Given the description of an element on the screen output the (x, y) to click on. 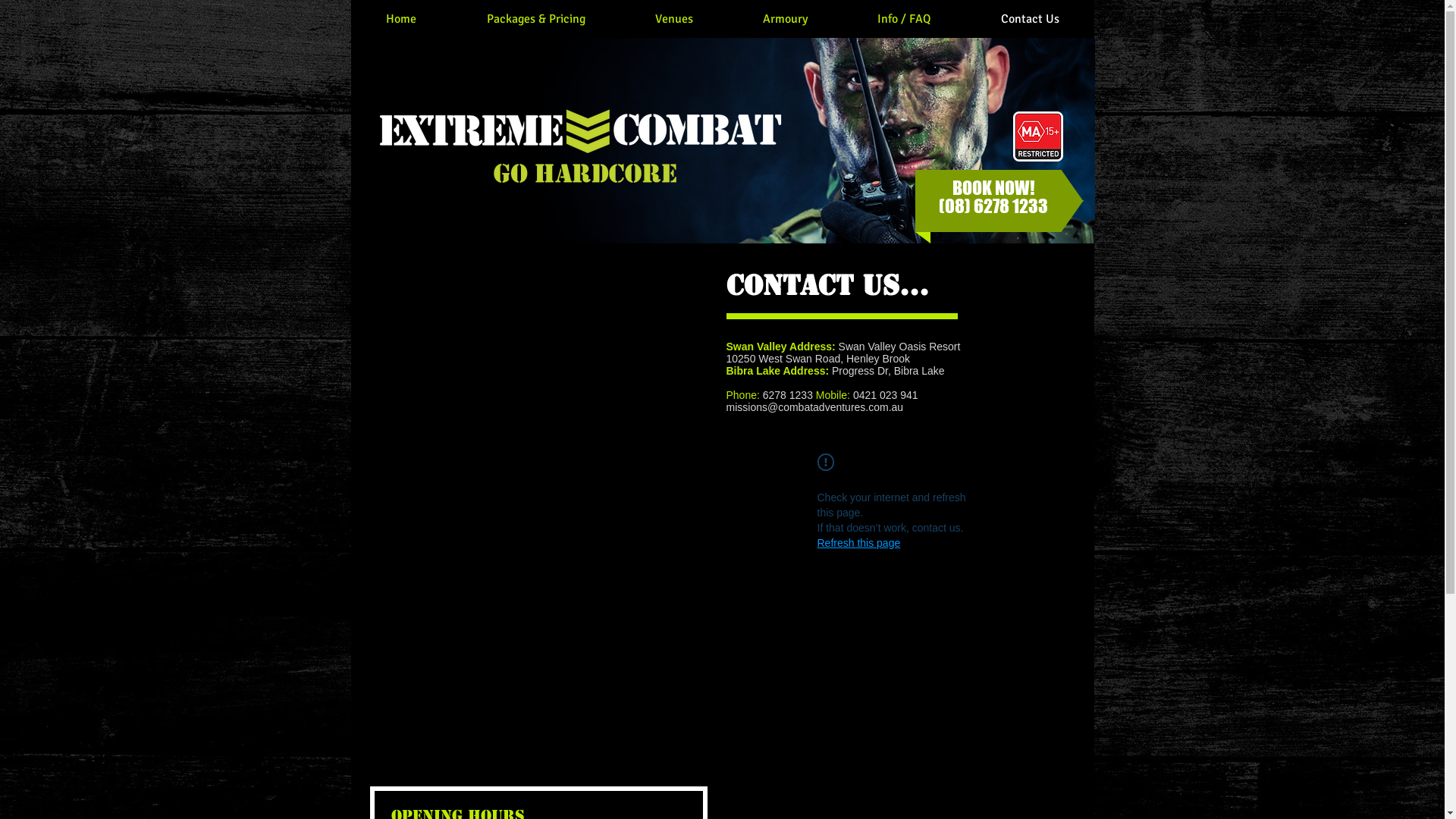
Google Maps Element type: hover (537, 385)
Contact Us Element type: text (1030, 18)
Refresh this page Element type: text (858, 542)
MA-symbol.png Element type: hover (1038, 136)
missions@combatadventures.com.au Element type: text (814, 407)
Venues Element type: text (674, 18)
Packages & Pricing Element type: text (534, 18)
Armoury Element type: text (785, 18)
Home Element type: text (400, 18)
header.png Element type: hover (722, 140)
Info / FAQ Element type: text (903, 18)
logo.png Element type: hover (580, 144)
Google Maps Element type: hover (537, 643)
